Given the description of an element on the screen output the (x, y) to click on. 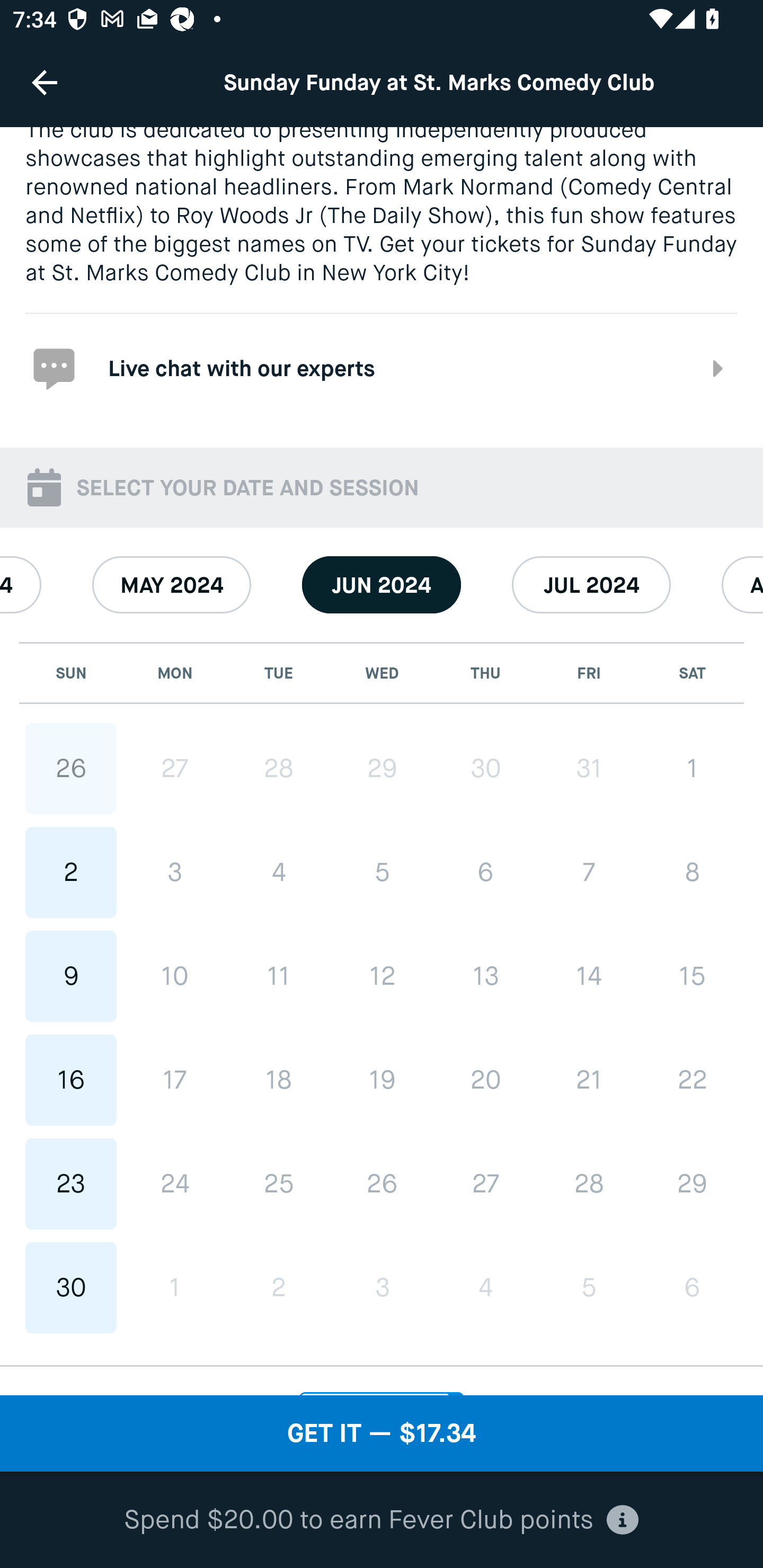
Navigate up (44, 82)
Live chat with our experts (381, 366)
MAY 2024 (171, 584)
JUN 2024 (381, 584)
JUL 2024 (590, 584)
26 (70, 767)
27 (174, 767)
28 (278, 767)
29 (382, 767)
30 (485, 767)
31 (588, 767)
1 (692, 767)
2 (70, 871)
3 (174, 871)
4 (278, 871)
5 (382, 871)
6 (485, 871)
7 (588, 871)
8 (692, 871)
9 (70, 976)
10 (174, 976)
11 (278, 976)
12 (382, 975)
13 (485, 975)
14 (588, 975)
15 (692, 975)
16 (70, 1079)
17 (174, 1079)
18 (278, 1079)
19 (382, 1079)
20 (485, 1079)
21 (588, 1079)
22 (692, 1079)
23 (70, 1183)
24 (174, 1183)
25 (278, 1183)
26 (382, 1183)
27 (485, 1183)
28 (588, 1183)
29 (692, 1183)
30 (70, 1286)
1 (174, 1286)
2 (278, 1286)
3 (382, 1286)
4 (485, 1286)
5 (588, 1286)
6 (692, 1286)
GET IT — $17.34 (381, 1433)
Spend $20.00 to earn Fever Club points (381, 1519)
